Given the description of an element on the screen output the (x, y) to click on. 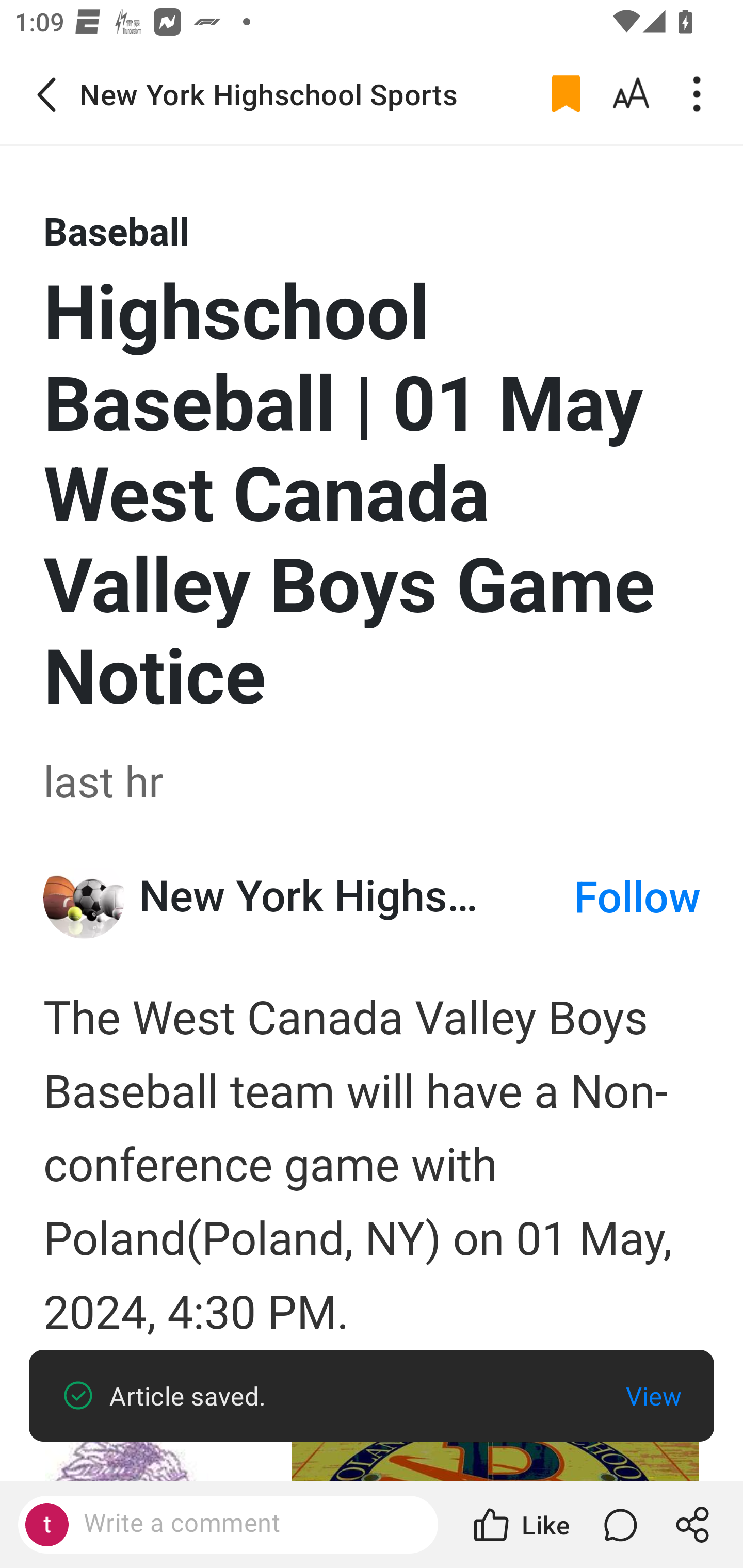
New (84, 897)
New York Highschool Sports (355, 896)
Follow (637, 898)
View (653, 1395)
Like (519, 1524)
Write a comment (227, 1524)
Write a comment (245, 1523)
